Given the description of an element on the screen output the (x, y) to click on. 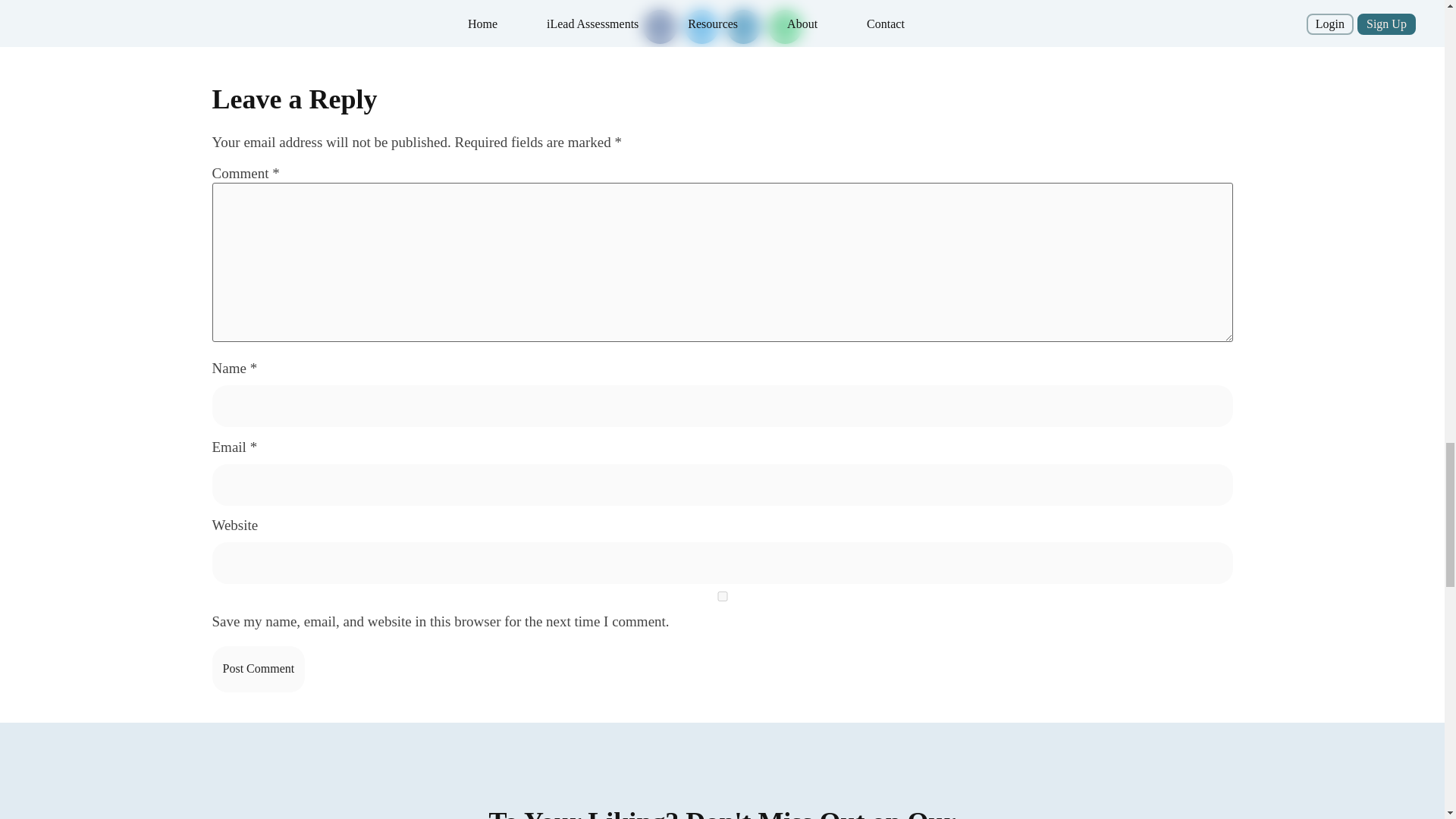
Post Comment (258, 669)
Post Comment (258, 669)
